Given the description of an element on the screen output the (x, y) to click on. 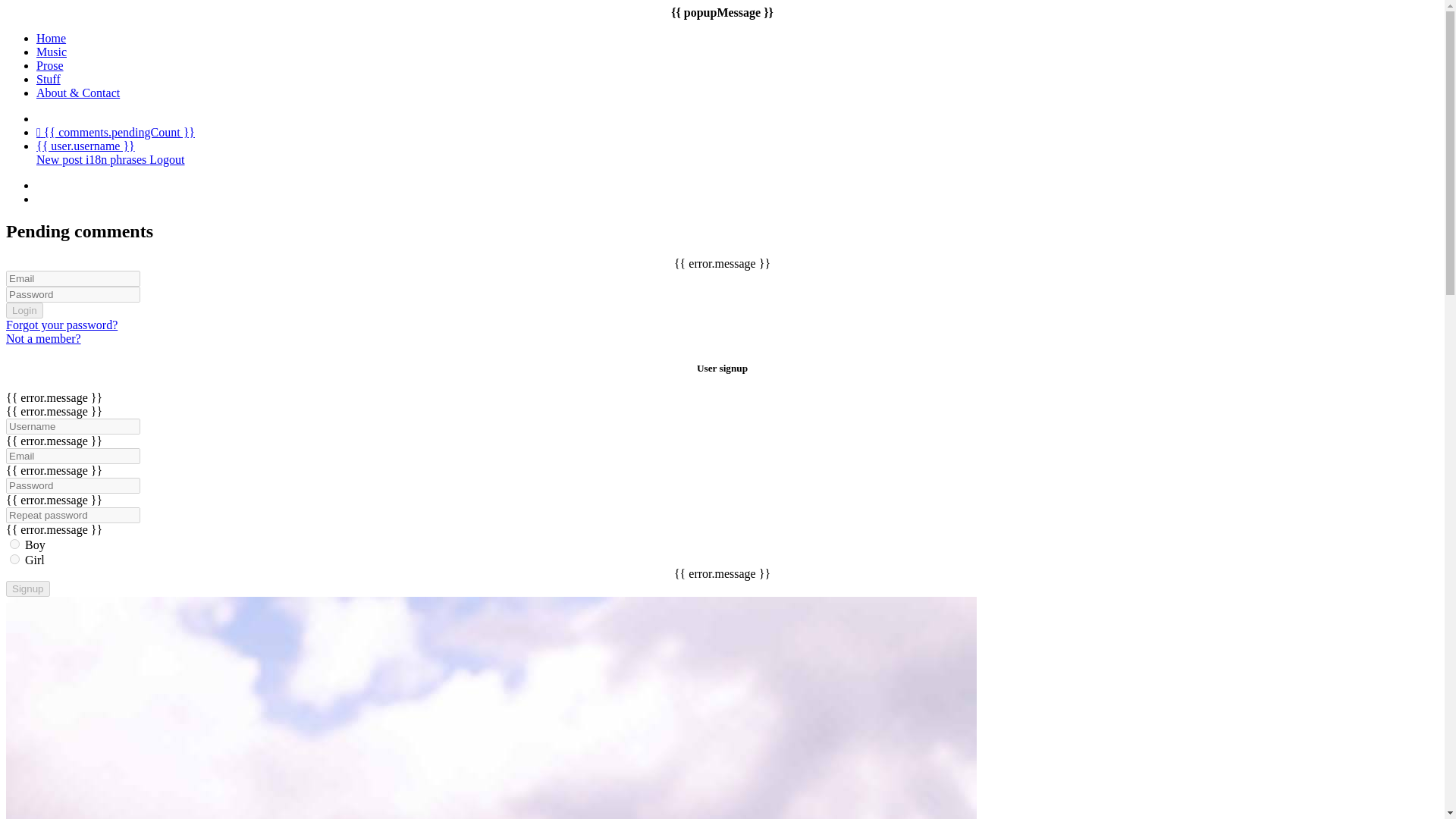
Music (51, 51)
Male (15, 543)
New post (60, 159)
Logout (166, 159)
Stuff (48, 78)
Prose (50, 65)
i18n phrases (117, 159)
Login (24, 310)
Female (15, 559)
Home (50, 38)
Login (24, 310)
Not a member? (43, 338)
Signup (27, 588)
Forgot your password? (61, 324)
Signup (27, 588)
